Given the description of an element on the screen output the (x, y) to click on. 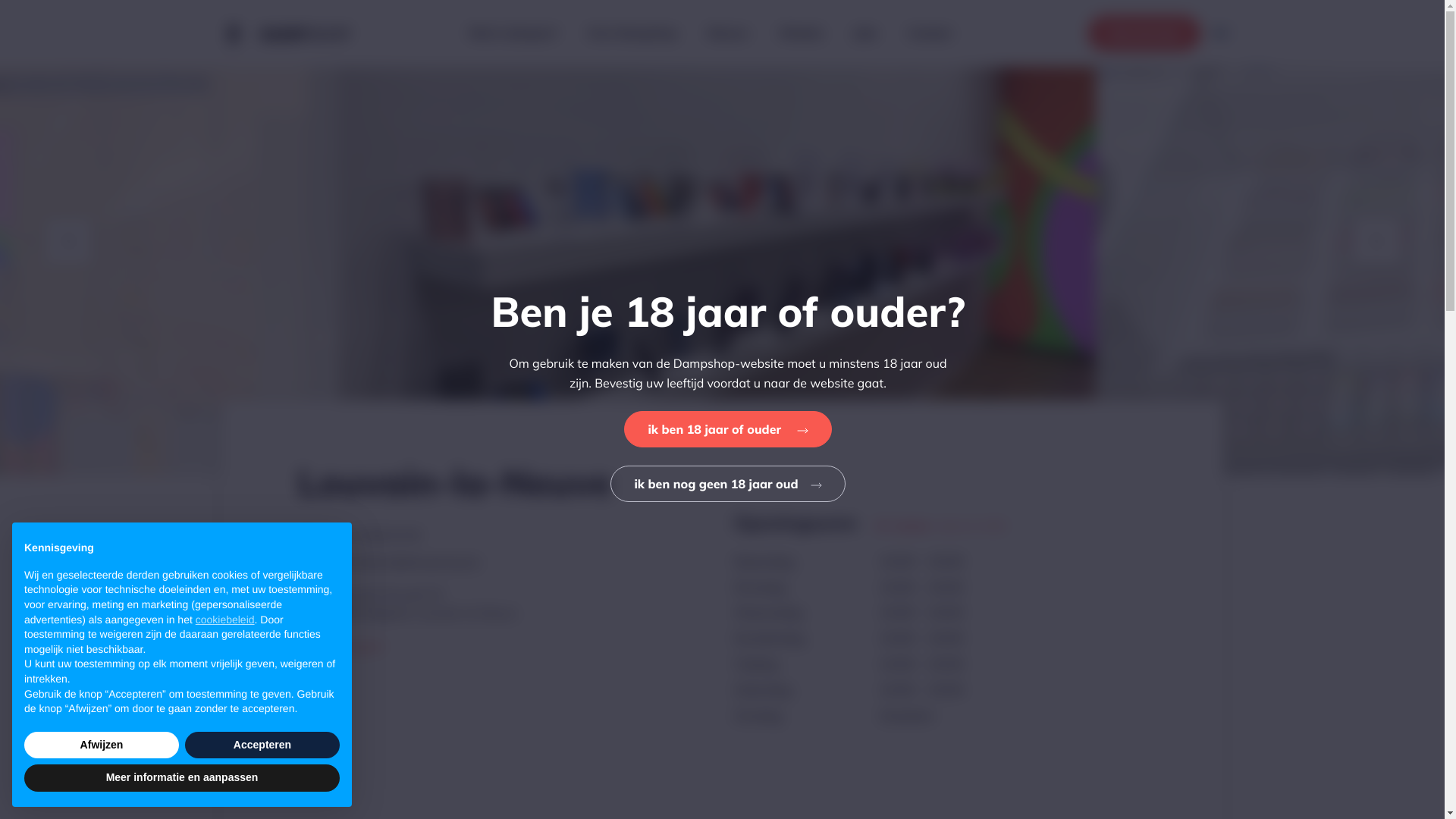
Over Dampshop Element type: text (632, 33)
Afwijzen Element type: text (101, 745)
ik ben 18 jaar of ouder Element type: text (727, 429)
Winkels Element type: text (800, 33)
Jobs Element type: text (865, 33)
Doe de test Element type: text (1144, 33)
Navigeer Element type: text (421, 646)
+32 10 86 03 00 Element type: text (373, 536)
cookiebeleid Element type: text (224, 619)
NL Element type: text (1220, 40)
Contact Element type: text (928, 33)
ik ben nog geen 18 jaar oud Element type: text (727, 483)
Meer informatie en aanpassen Element type: text (181, 777)
Place de l'Accueil 10
1348 Ottignies-Louvain-la-Neuve Element type: text (421, 603)
Wat is dampen? Element type: text (512, 33)
Accepteren Element type: text (262, 745)
Nieuws Element type: text (727, 33)
information@dampshop.be Element type: text (403, 562)
